Given the description of an element on the screen output the (x, y) to click on. 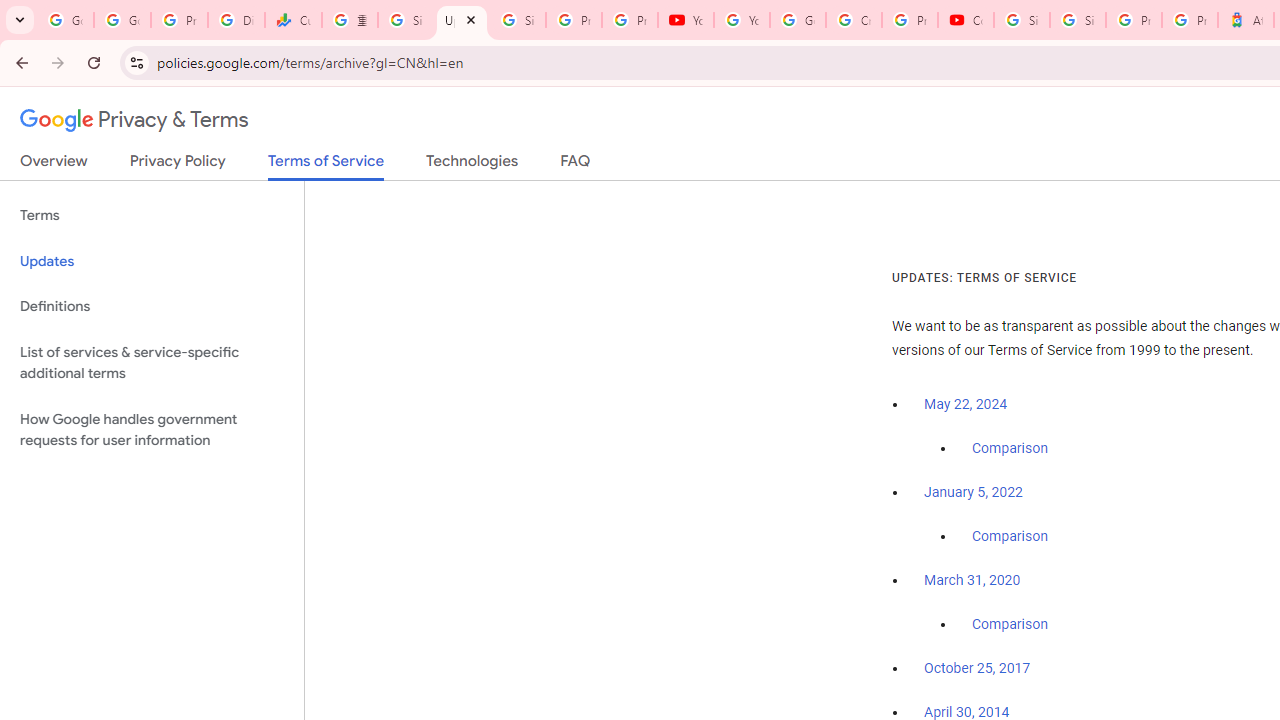
YouTube (685, 20)
How Google handles government requests for user information (152, 429)
Privacy Checkup (629, 20)
March 31, 2020 (972, 580)
Content Creator Programs & Opportunities - YouTube Creators (966, 20)
Google Account Help (797, 20)
